Given the description of an element on the screen output the (x, y) to click on. 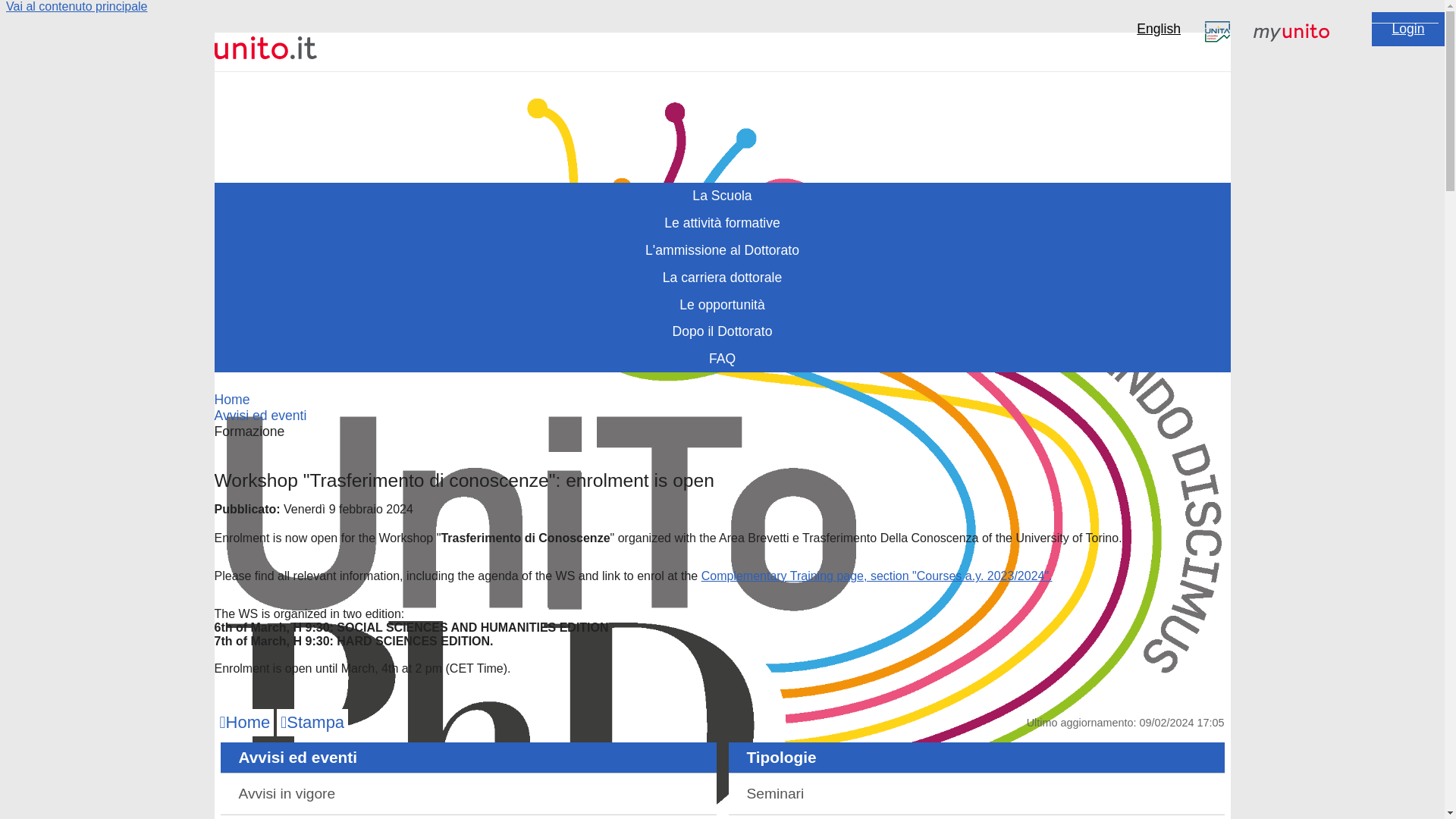
Vai al contenuto principale (76, 6)
English (1158, 28)
Passa alla Versione in inglese (1158, 28)
Home (244, 722)
Stampa (311, 722)
